Given the description of an element on the screen output the (x, y) to click on. 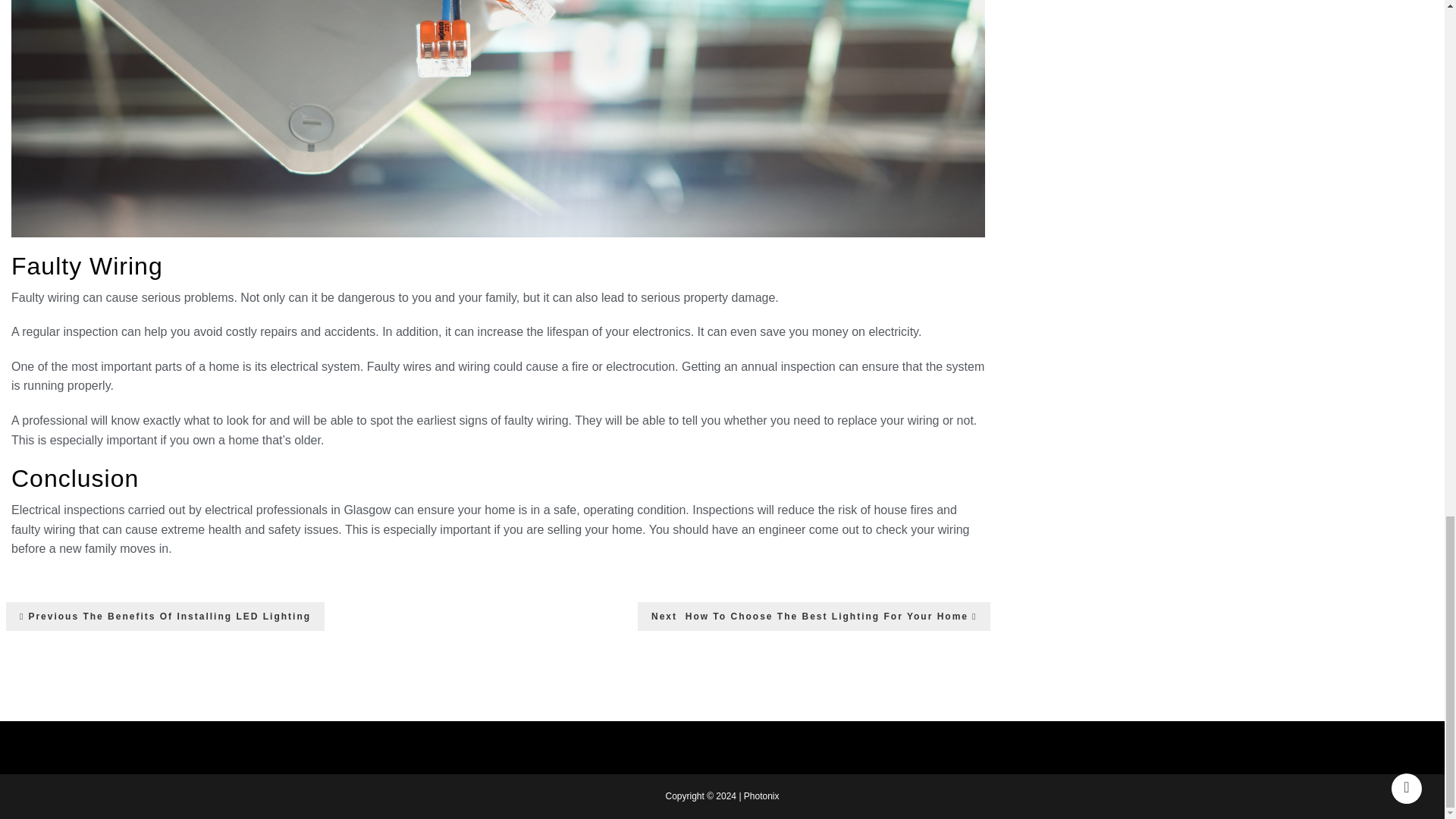
Photonix (761, 796)
